Given the description of an element on the screen output the (x, y) to click on. 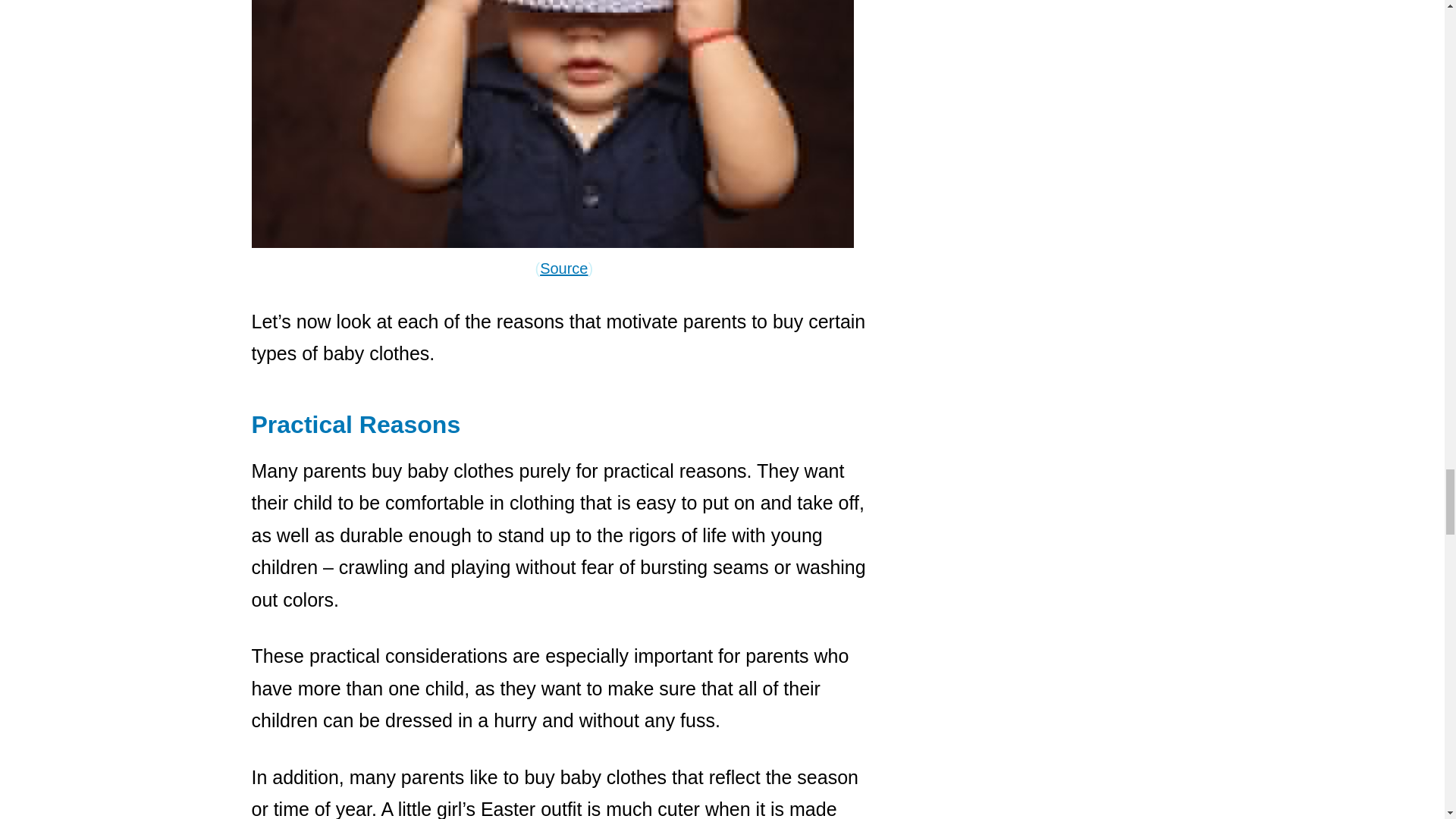
Source (564, 267)
